Given the description of an element on the screen output the (x, y) to click on. 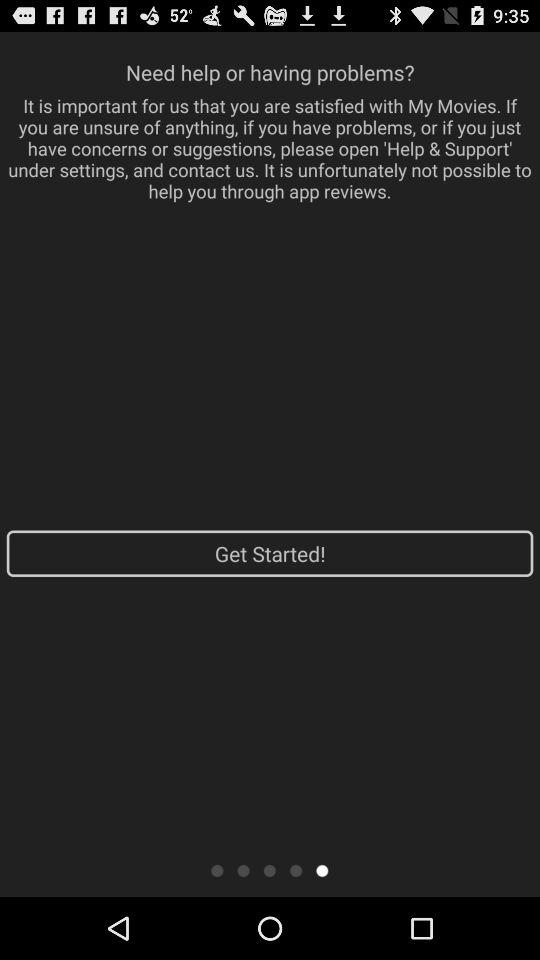
dot (269, 870)
